Given the description of an element on the screen output the (x, y) to click on. 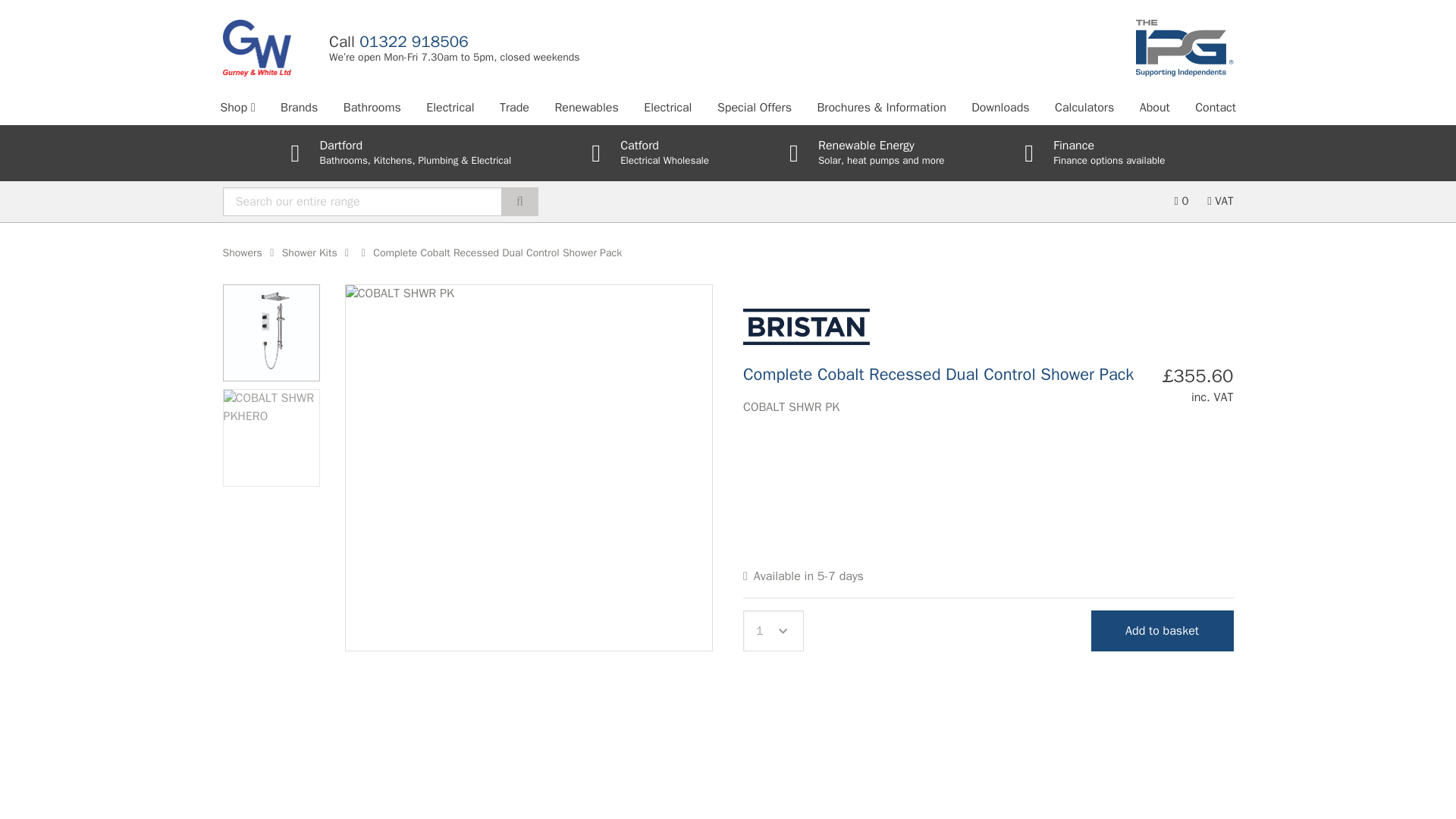
01322 918506 (413, 41)
Show prices inclusive or excluside of VAT (1220, 201)
Gurney and White Supplies are a member of The IPG (1184, 47)
